Given the description of an element on the screen output the (x, y) to click on. 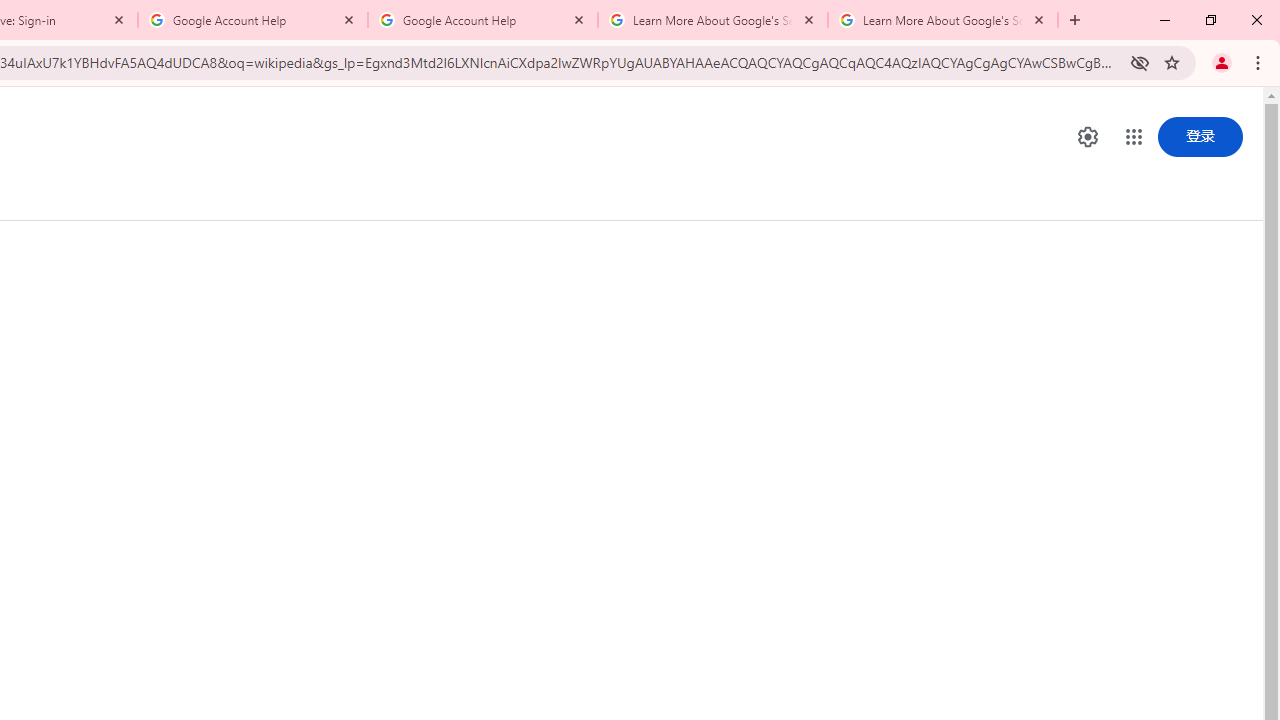
Chrome (1260, 62)
